Given the description of an element on the screen output the (x, y) to click on. 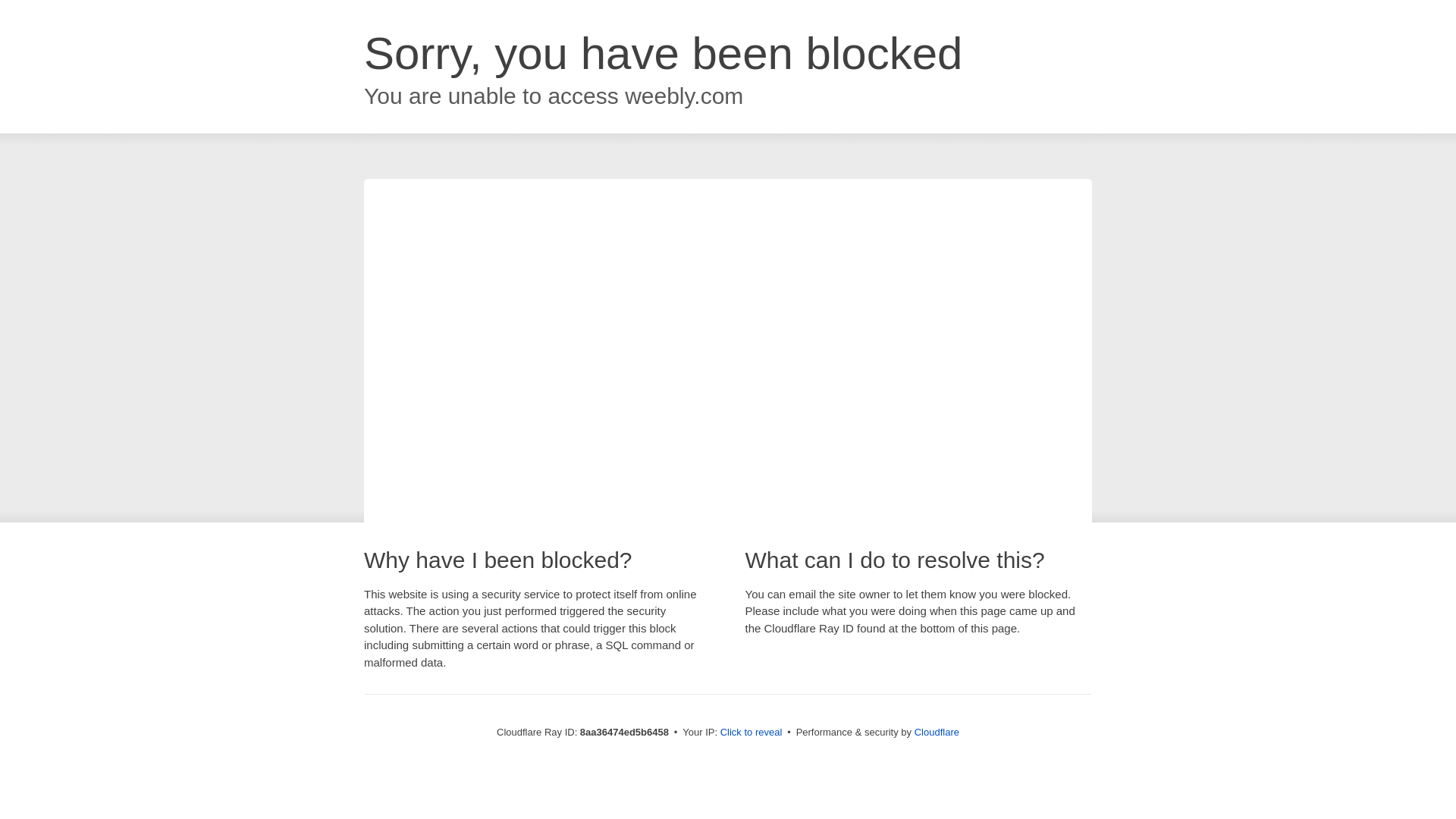
Cloudflare (936, 731)
Click to reveal (751, 732)
